Given the description of an element on the screen output the (x, y) to click on. 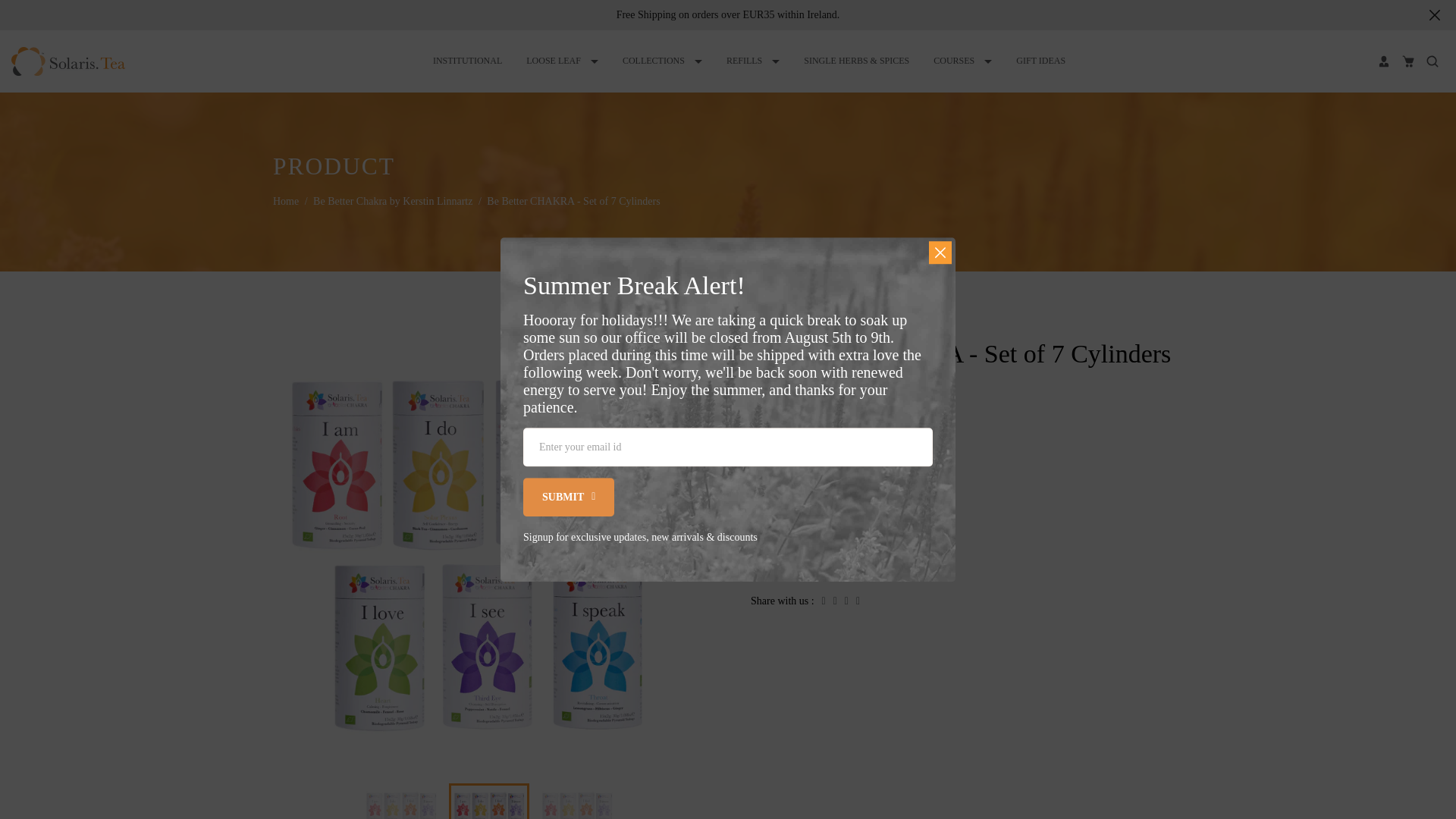
COLLECTIONS (662, 61)
Be Better CHAKRA - Set of 7 Cylinders (400, 802)
Free Shipping on orders over EUR35 within Ireland. (727, 14)
Be Better CHAKRA - Set of 7 Cylinders (576, 802)
REFILLS (752, 61)
LOOSE LEAF (562, 61)
Sign In (1383, 60)
1 (901, 503)
COURSES (962, 61)
